Given the description of an element on the screen output the (x, y) to click on. 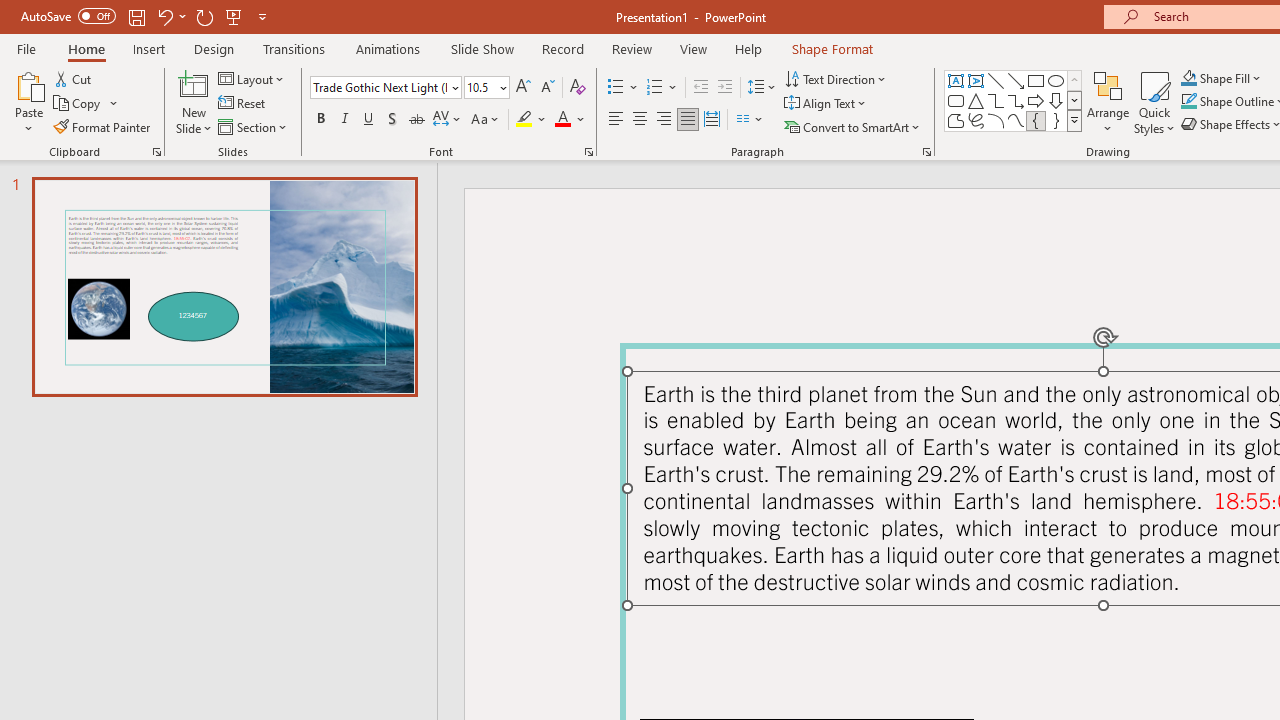
Line (995, 80)
Increase Font Size (522, 87)
Align Left (616, 119)
Decrease Font Size (547, 87)
Reset (243, 103)
Font Color (569, 119)
Freeform: Scribble (975, 120)
Shape Fill (1221, 78)
Arrange (1108, 102)
Center (639, 119)
Vertical Text Box (975, 80)
Numbering (661, 87)
Decrease Indent (700, 87)
